Given the description of an element on the screen output the (x, y) to click on. 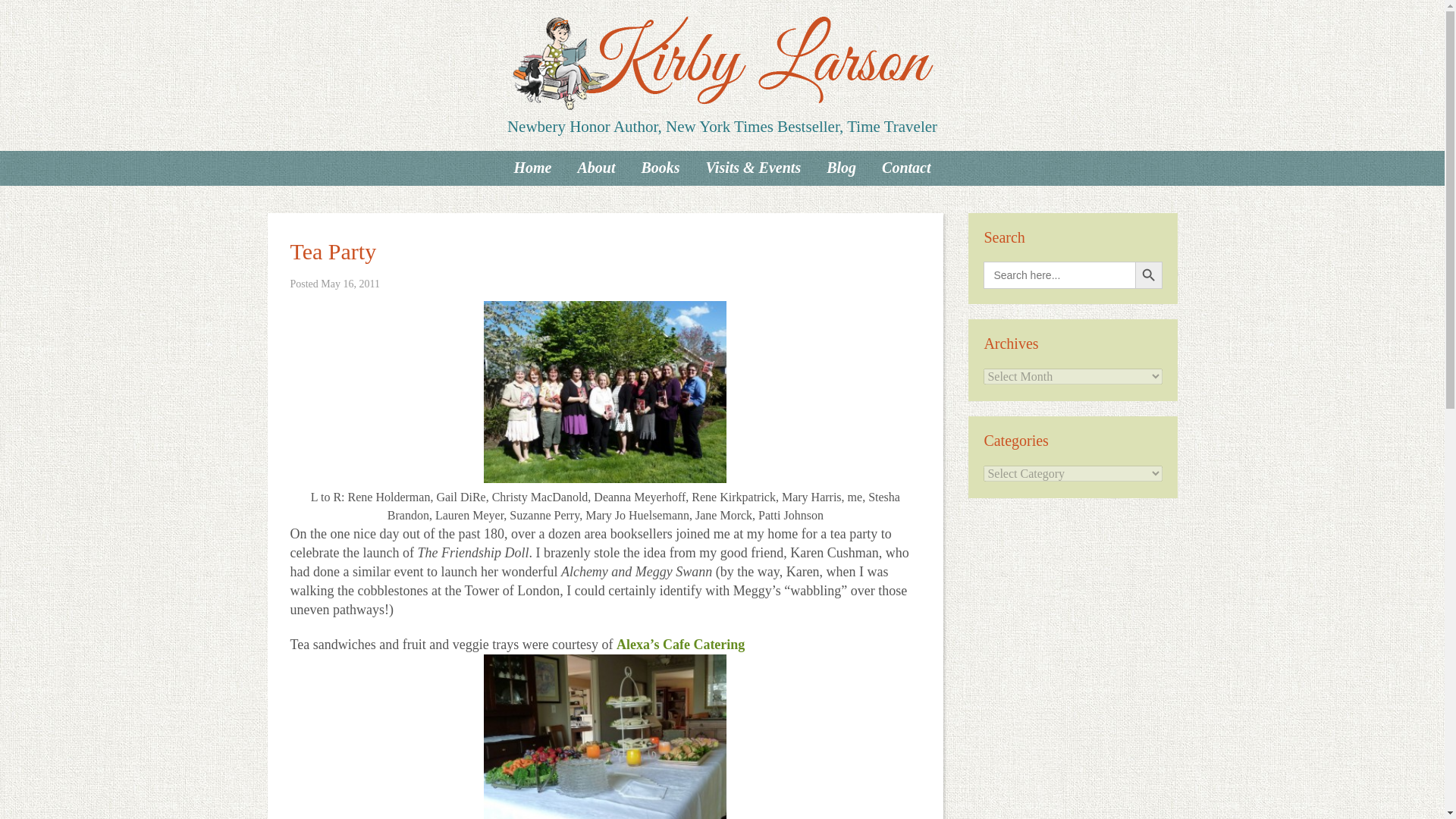
Blog (841, 167)
Search Button (1147, 275)
About (596, 167)
Books (659, 167)
Home (532, 167)
Contact (906, 167)
